Given the description of an element on the screen output the (x, y) to click on. 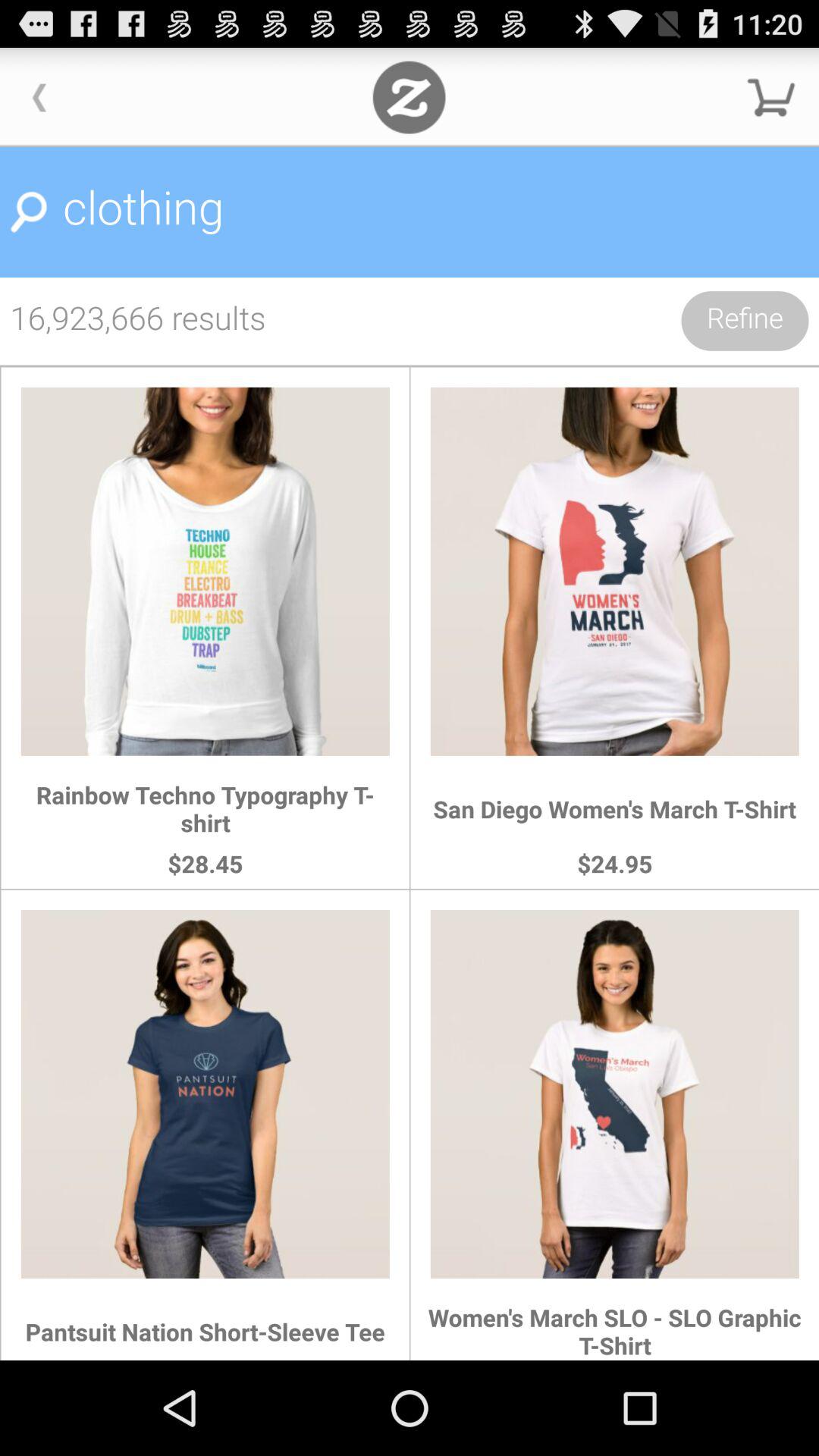
open the refine item (744, 320)
